Given the description of an element on the screen output the (x, y) to click on. 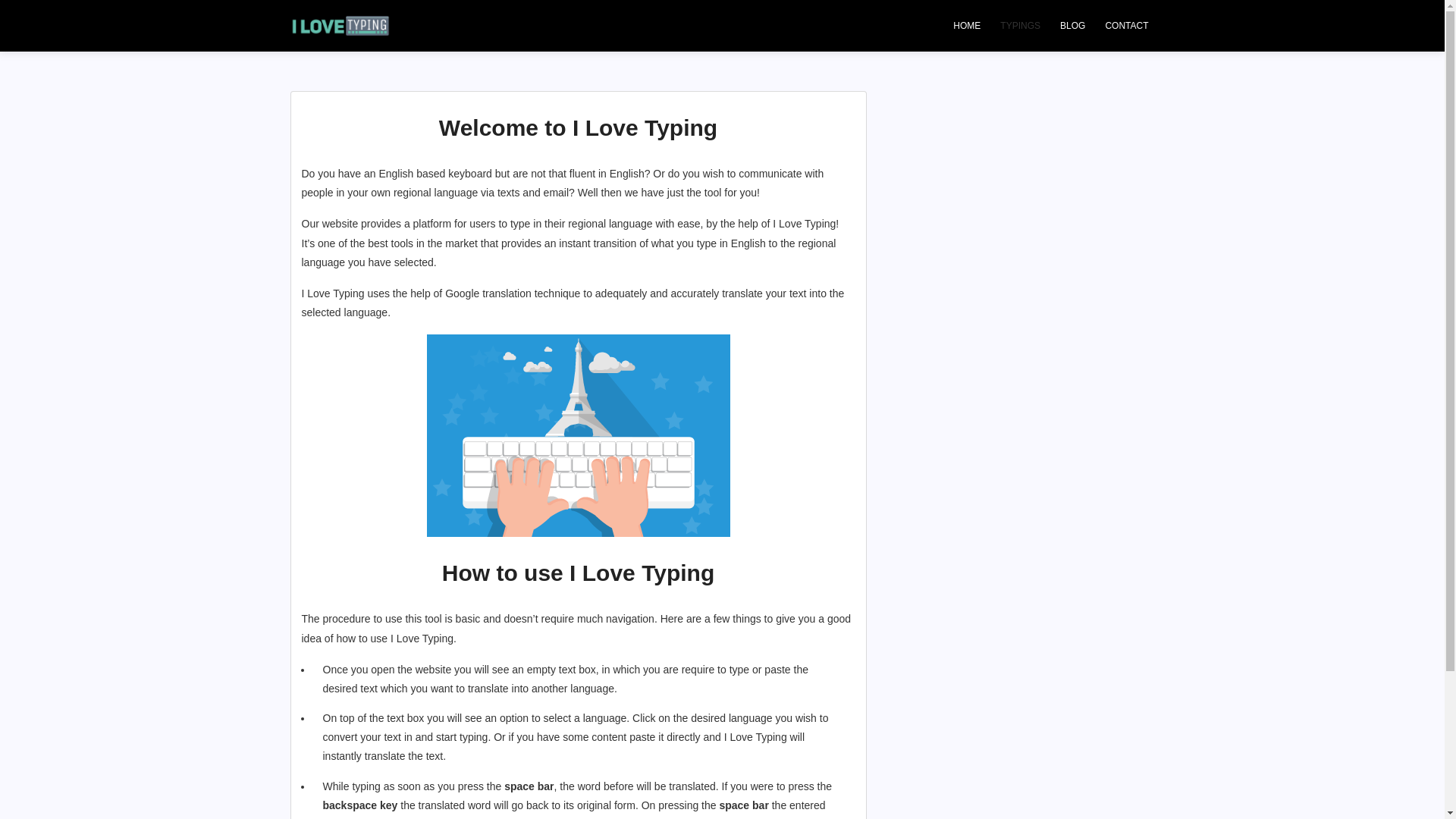
TYPINGS (1020, 26)
CONTACT (1126, 26)
HOME (967, 26)
BLOG (1072, 26)
